Given the description of an element on the screen output the (x, y) to click on. 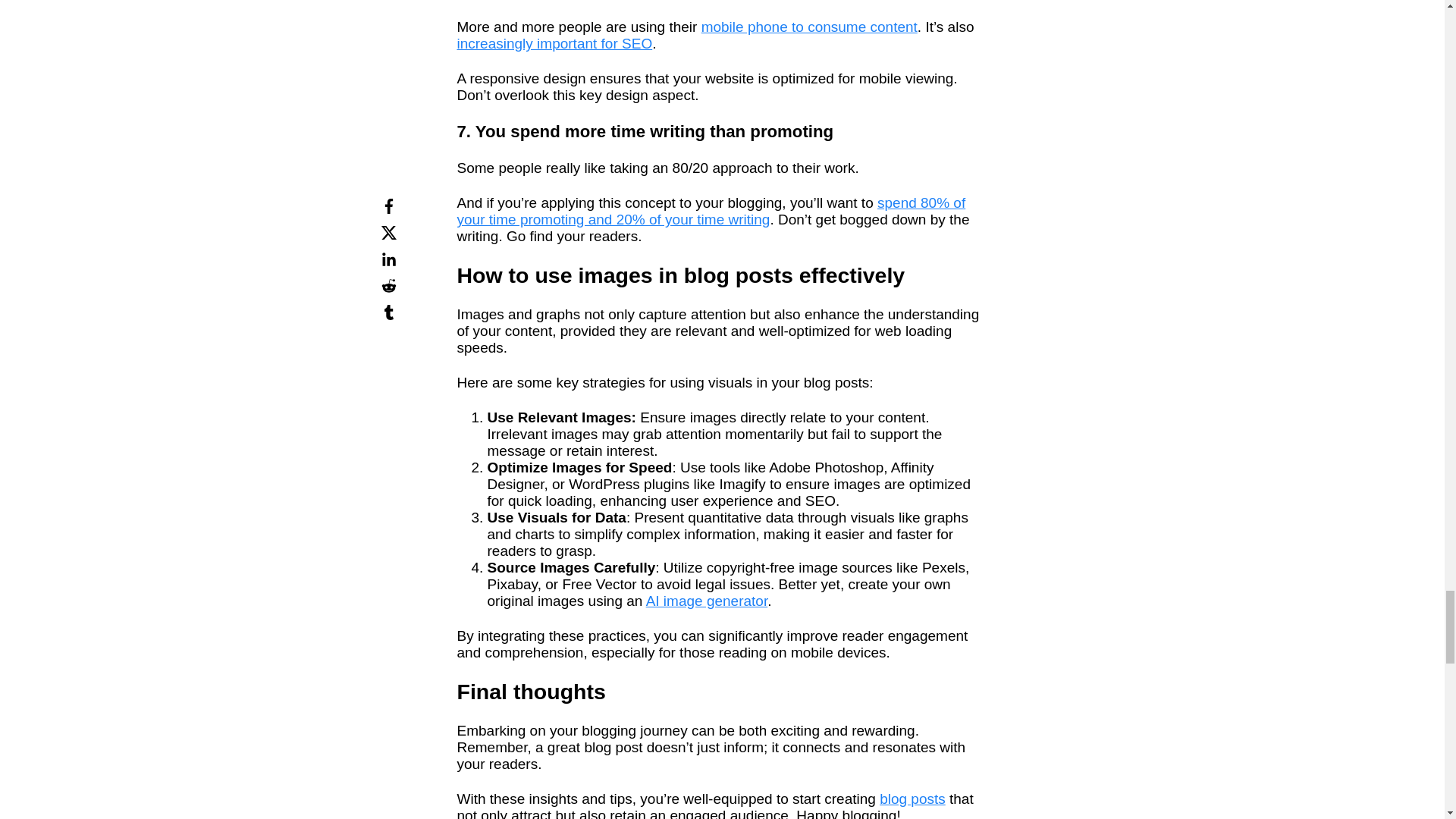
blog posts (911, 798)
increasingly important for SEO (554, 43)
mobile phone to consume content (809, 26)
AI image generator (707, 600)
